Given the description of an element on the screen output the (x, y) to click on. 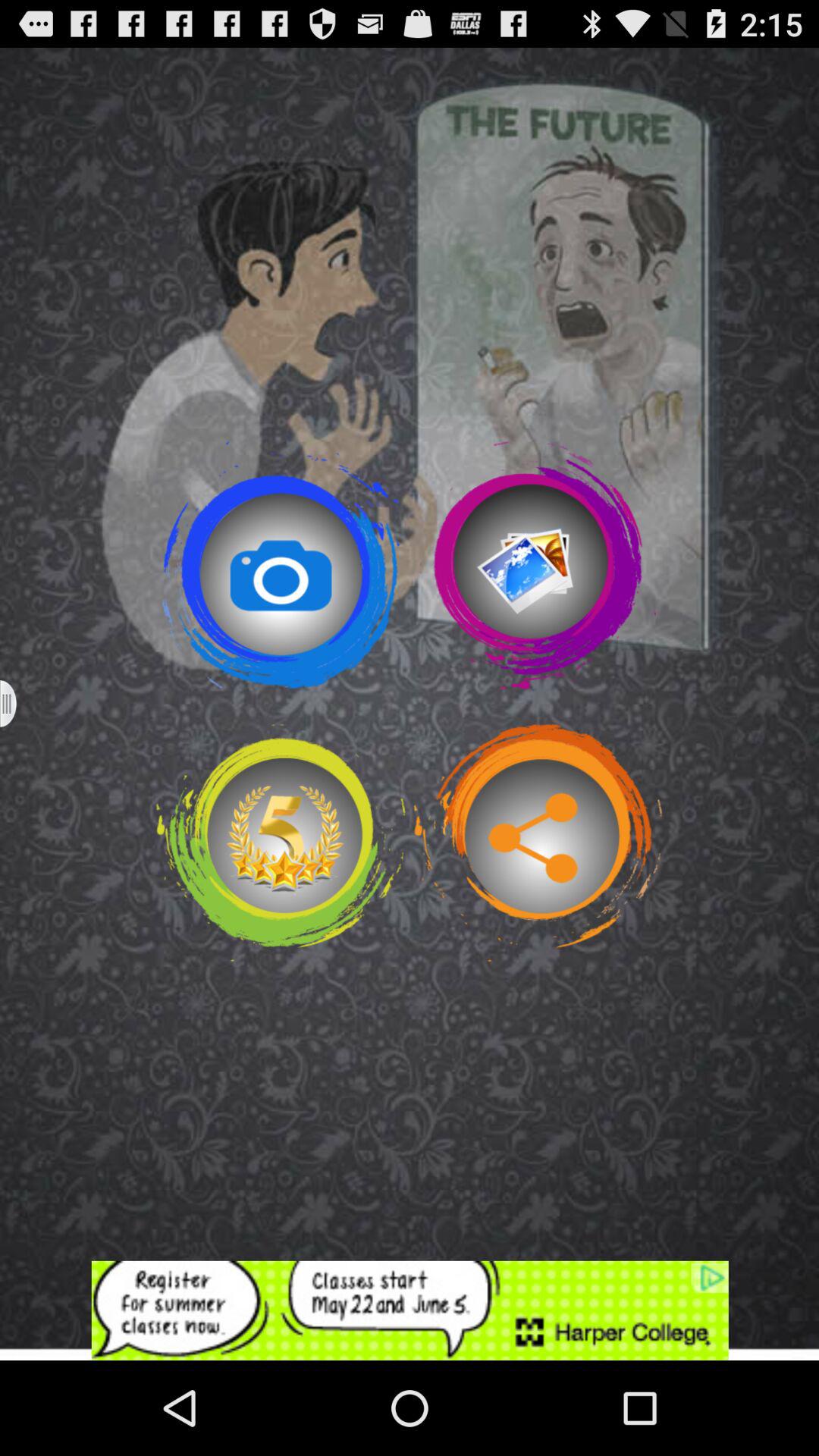
camera option (280, 564)
